Given the description of an element on the screen output the (x, y) to click on. 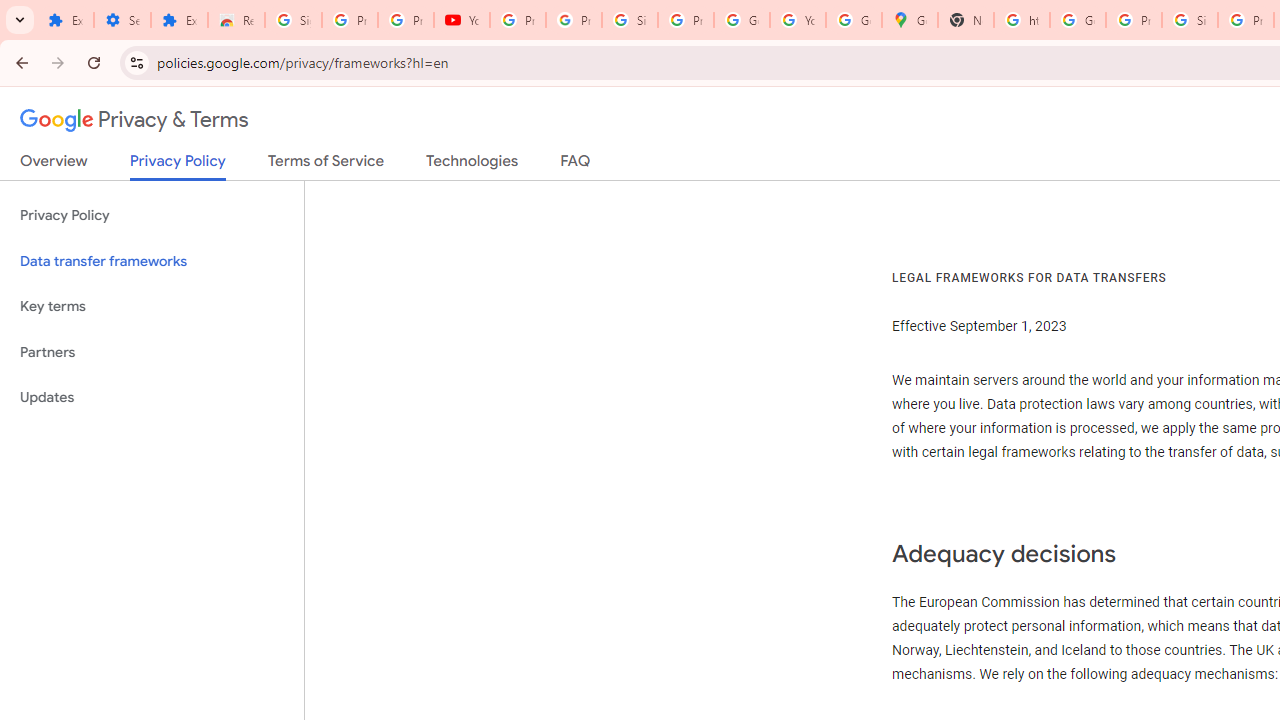
https://scholar.google.com/ (1021, 20)
Sign in - Google Accounts (293, 20)
YouTube (461, 20)
Partners (152, 352)
Sign in - Google Accounts (629, 20)
Sign in - Google Accounts (1190, 20)
